Given the description of an element on the screen output the (x, y) to click on. 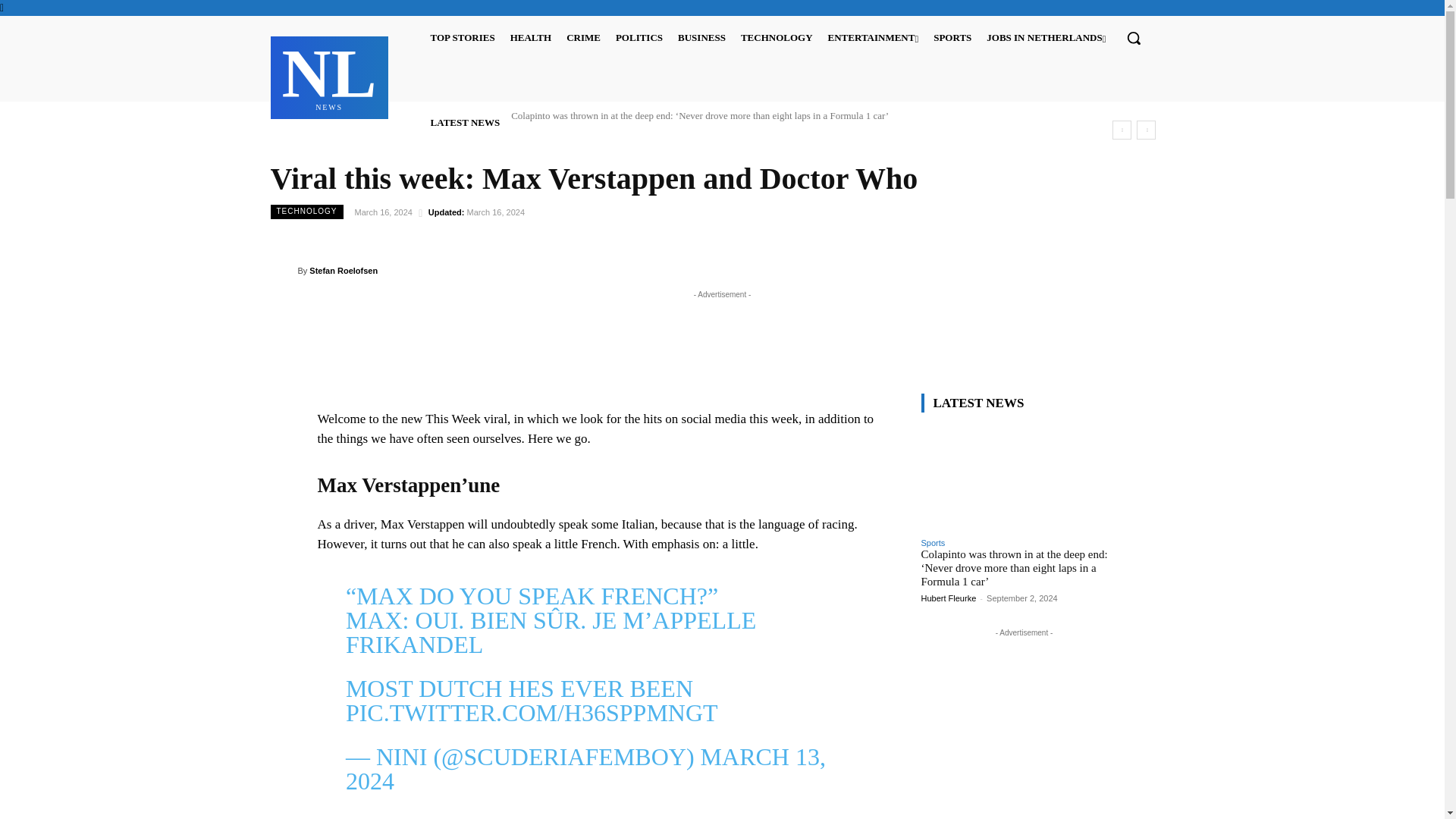
POLITICS (639, 37)
BUSINESS (701, 37)
CRIME (583, 37)
SPORTS (951, 37)
TECHNOLOGY (776, 37)
JOBS IN NETHERLANDS (1045, 37)
HEALTH (530, 37)
TOP STORIES (462, 37)
ENTERTAINMENT (329, 75)
